Given the description of an element on the screen output the (x, y) to click on. 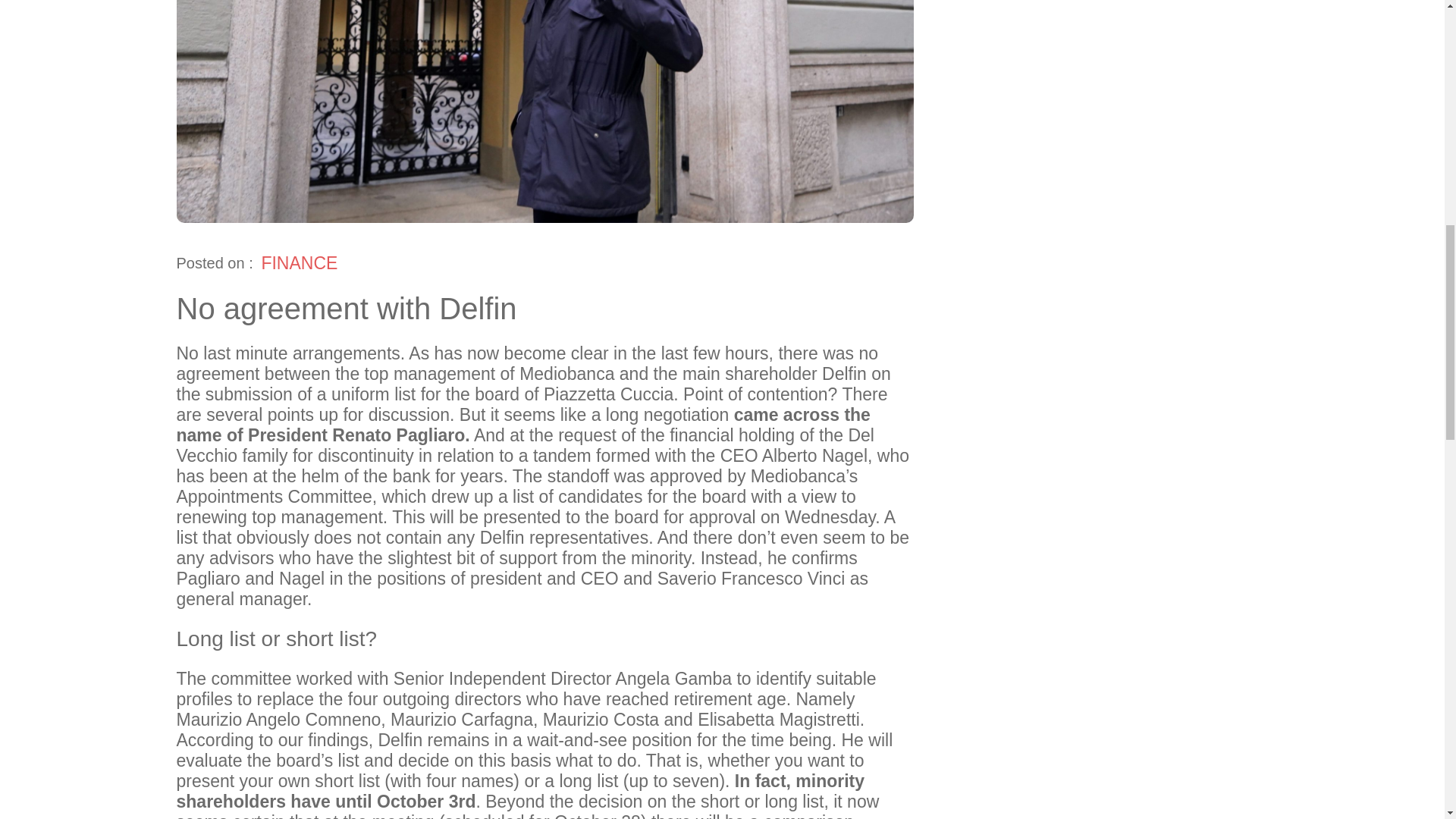
FINANCE (298, 262)
